Given the description of an element on the screen output the (x, y) to click on. 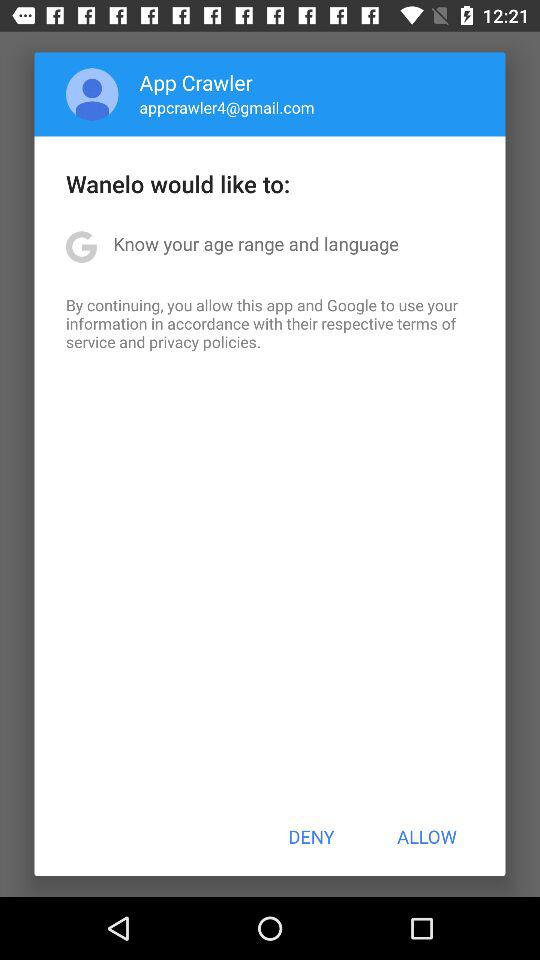
choose the app next to app crawler (92, 94)
